Given the description of an element on the screen output the (x, y) to click on. 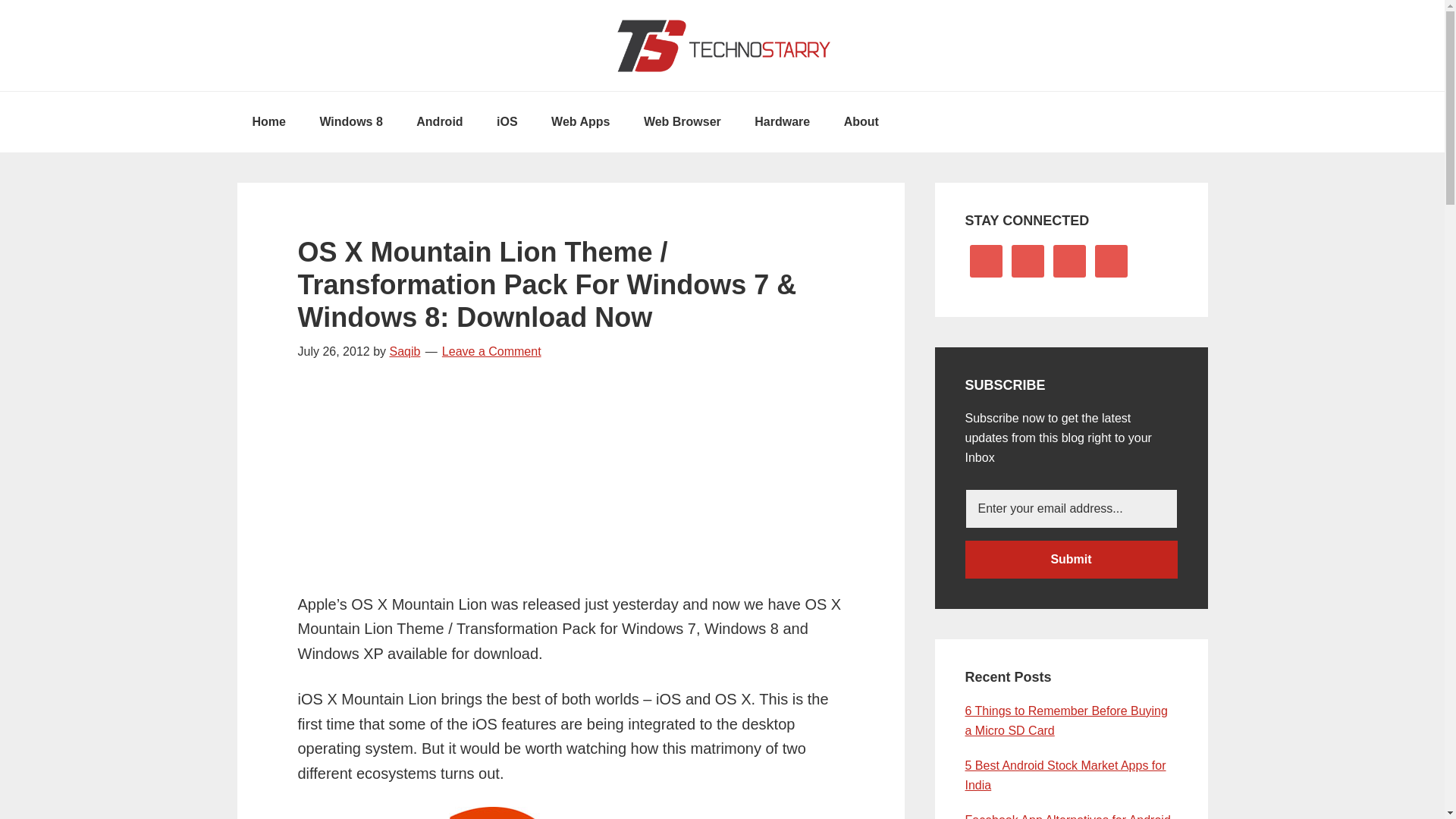
Advertisement (570, 486)
Web Browser (682, 121)
Skin pack (570, 812)
Submit (1069, 559)
Leave a Comment (491, 350)
6 Things to Remember Before Buying a Micro SD Card (1065, 720)
Windows 8 (350, 121)
Hardware (782, 121)
5 Best Android Stock Market Apps for India (1064, 775)
